Given the description of an element on the screen output the (x, y) to click on. 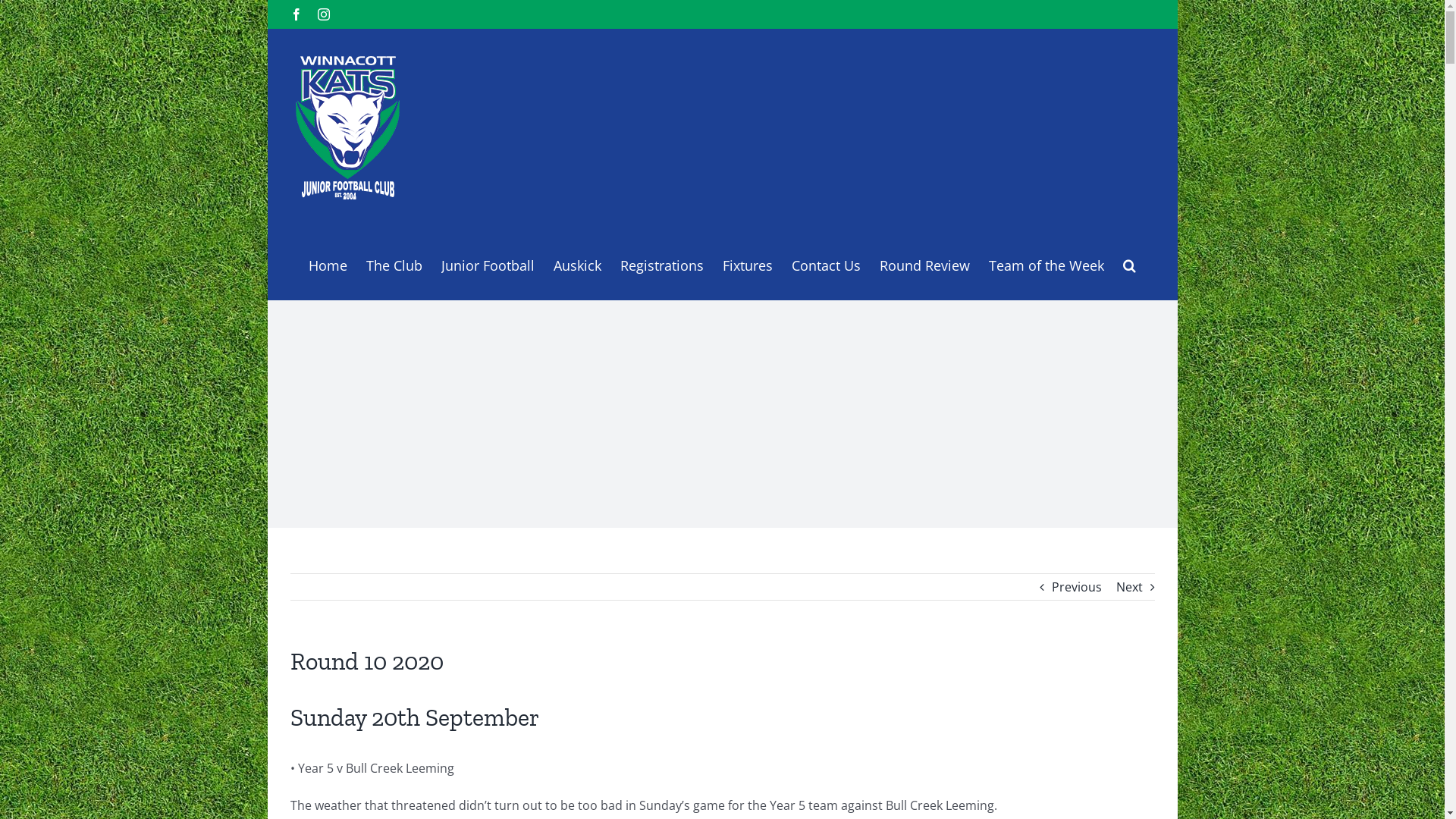
Team of the Week Element type: text (1046, 263)
Junior Football Element type: text (487, 263)
Registrations Element type: text (661, 263)
Round Review Element type: text (924, 263)
Instagram Element type: text (322, 14)
Facebook Element type: text (295, 14)
Contact Us Element type: text (825, 263)
Search Element type: hover (1128, 263)
Next Element type: text (1129, 586)
Previous Element type: text (1076, 586)
Auskick Element type: text (577, 263)
Fixtures Element type: text (746, 263)
The Club Element type: text (393, 263)
Home Element type: text (326, 263)
